Given the description of an element on the screen output the (x, y) to click on. 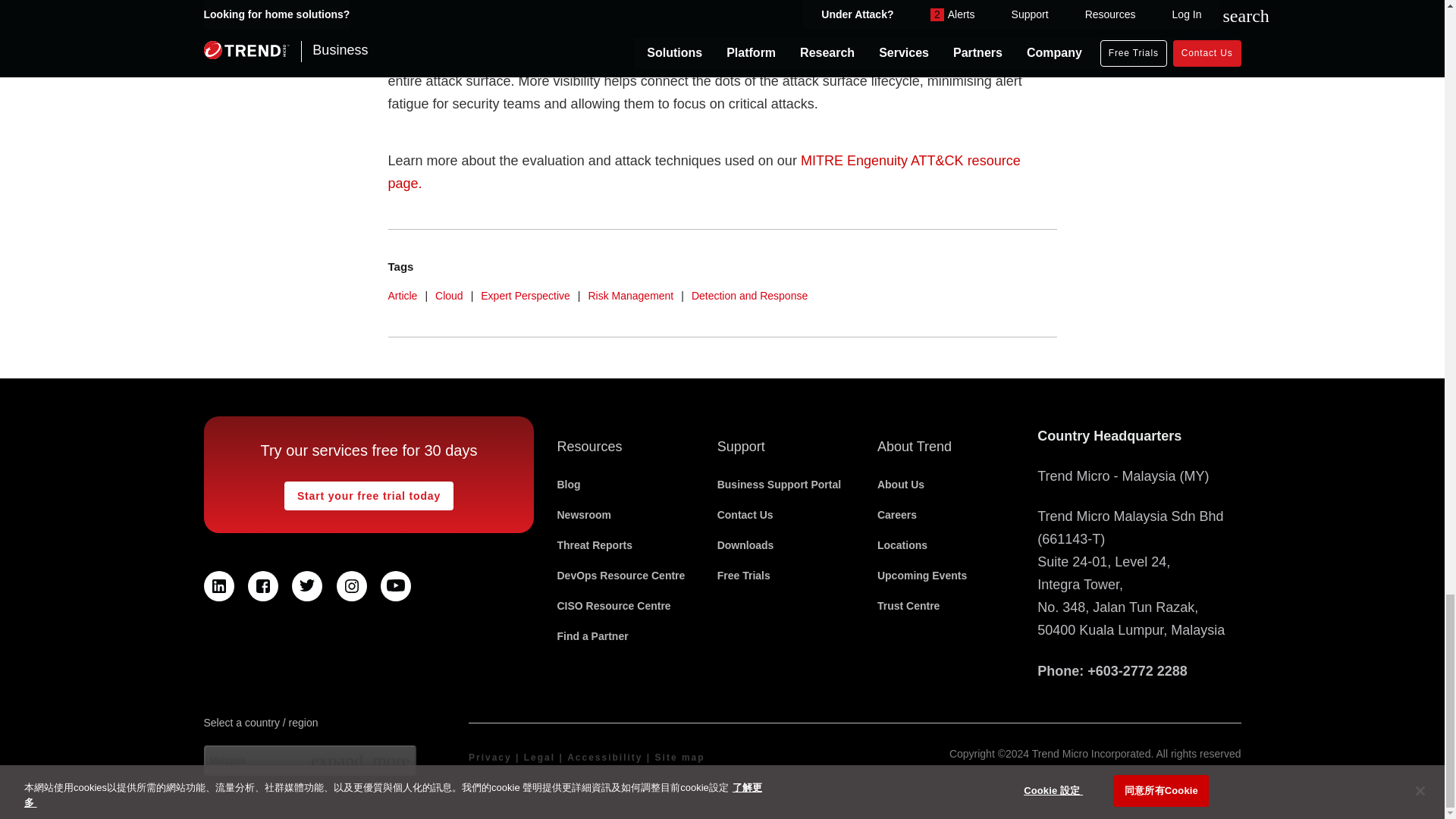
privacy (490, 757)
Accessibility (604, 757)
Site map (679, 757)
Legal (539, 757)
